Given the description of an element on the screen output the (x, y) to click on. 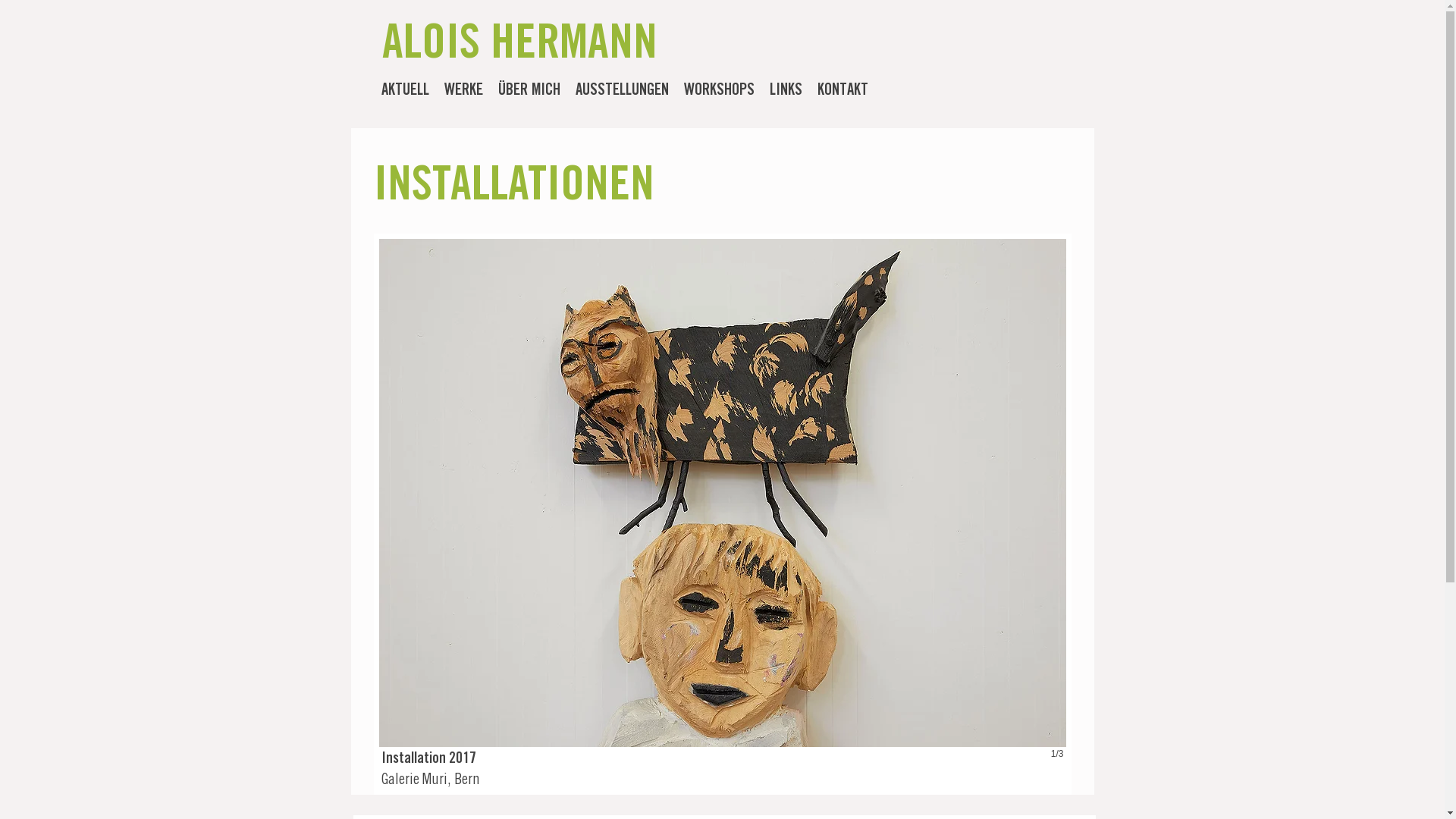
AUSSTELLUNGEN Element type: text (621, 91)
WORKSHOPS Element type: text (719, 91)
AKTUELL Element type: text (404, 91)
KONTAKT Element type: text (842, 91)
LINKS Element type: text (785, 91)
ALOIS HERMANN Element type: text (519, 46)
